Given the description of an element on the screen output the (x, y) to click on. 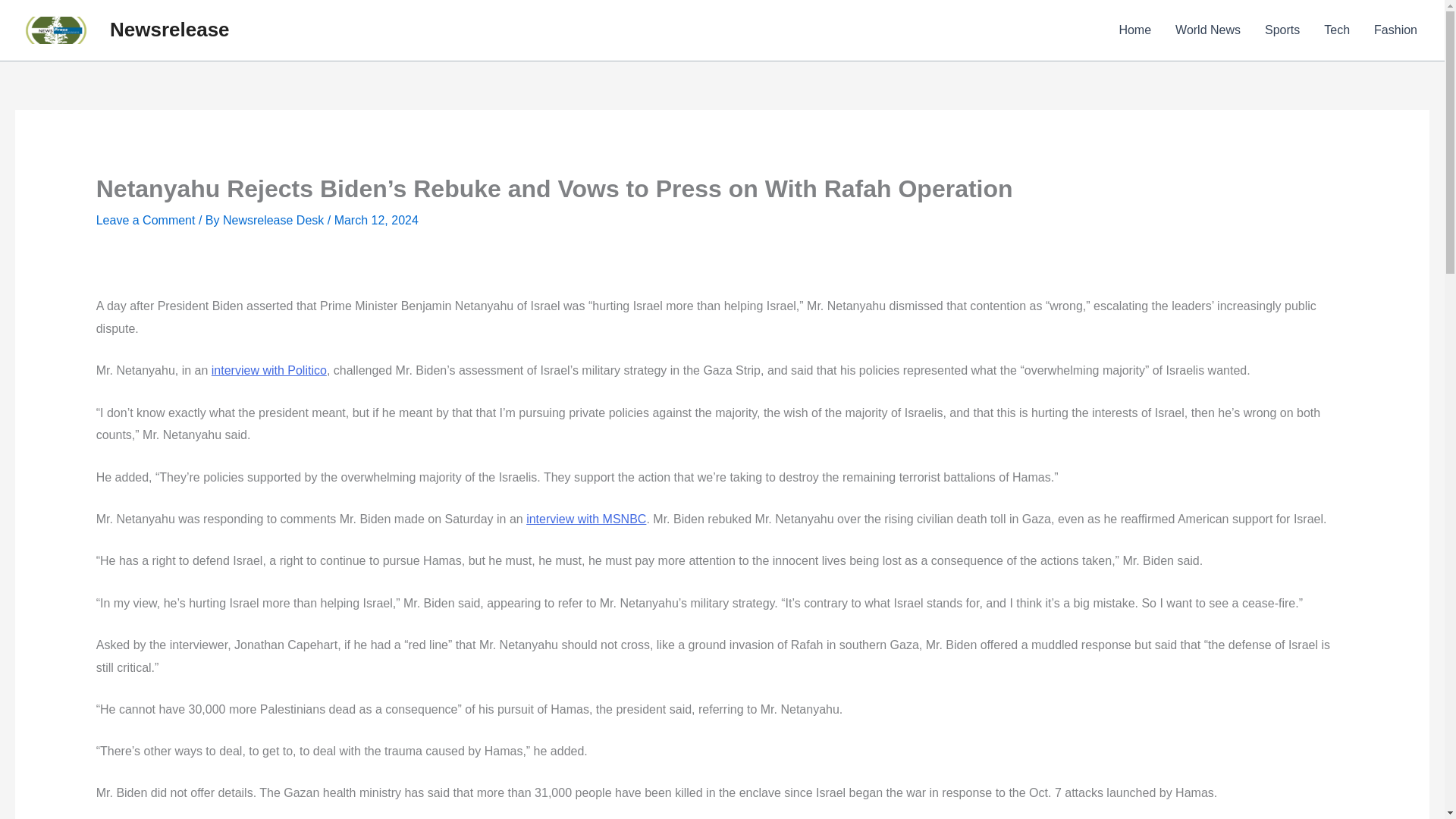
interview with MSNBC (585, 518)
Newsrelease Desk (274, 219)
Tech (1336, 30)
World News (1207, 30)
Newsrelease (170, 29)
Fashion (1395, 30)
Leave a Comment (145, 219)
Sports (1281, 30)
interview with Politico (268, 369)
View all posts by Newsrelease Desk (274, 219)
Home (1134, 30)
